Given the description of an element on the screen output the (x, y) to click on. 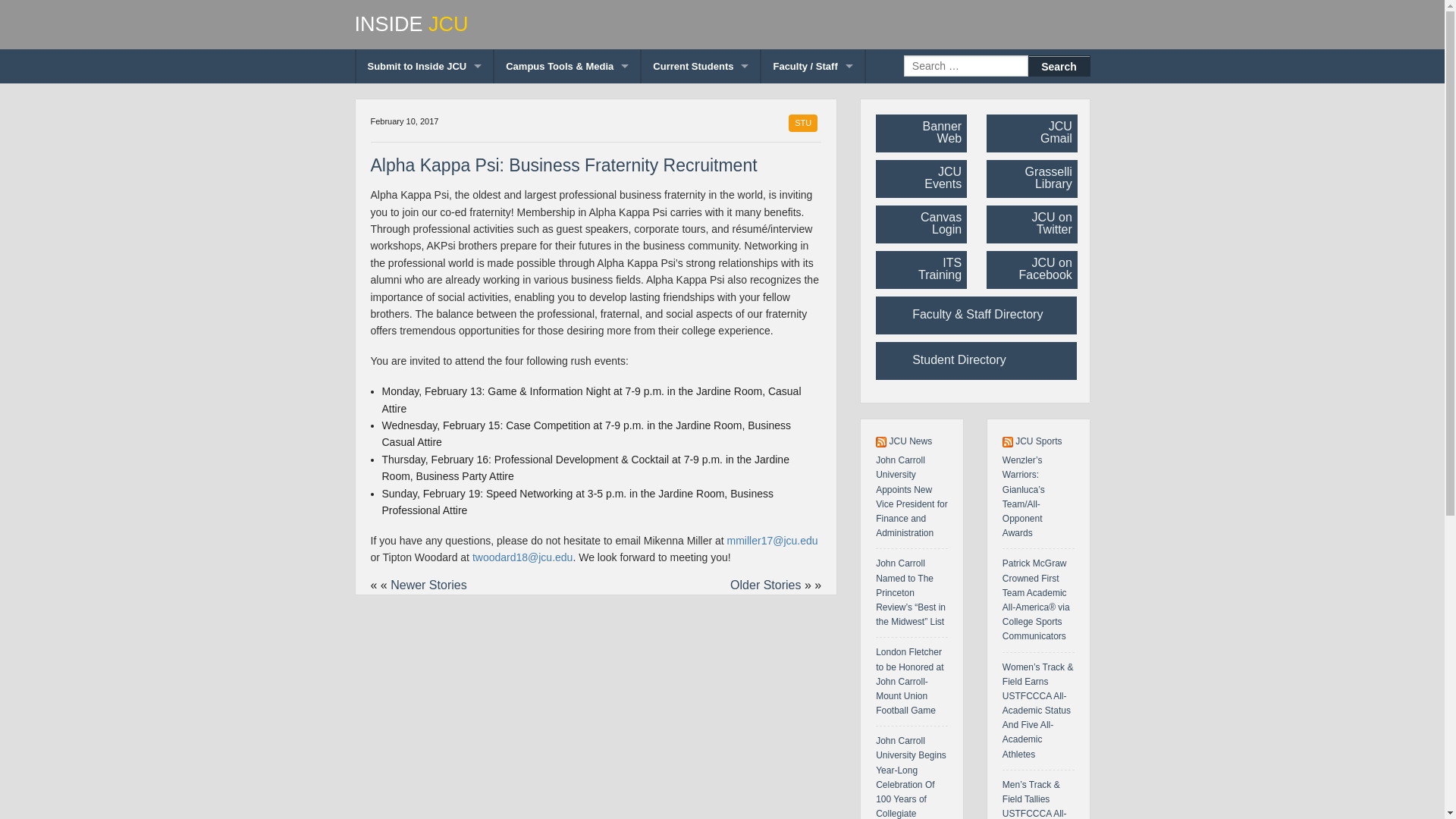
Current Students (701, 66)
Search (1058, 65)
INSIDE JCU (722, 24)
Submit to Inside JCU (424, 66)
Search (1058, 65)
Search for: (965, 65)
